Given the description of an element on the screen output the (x, y) to click on. 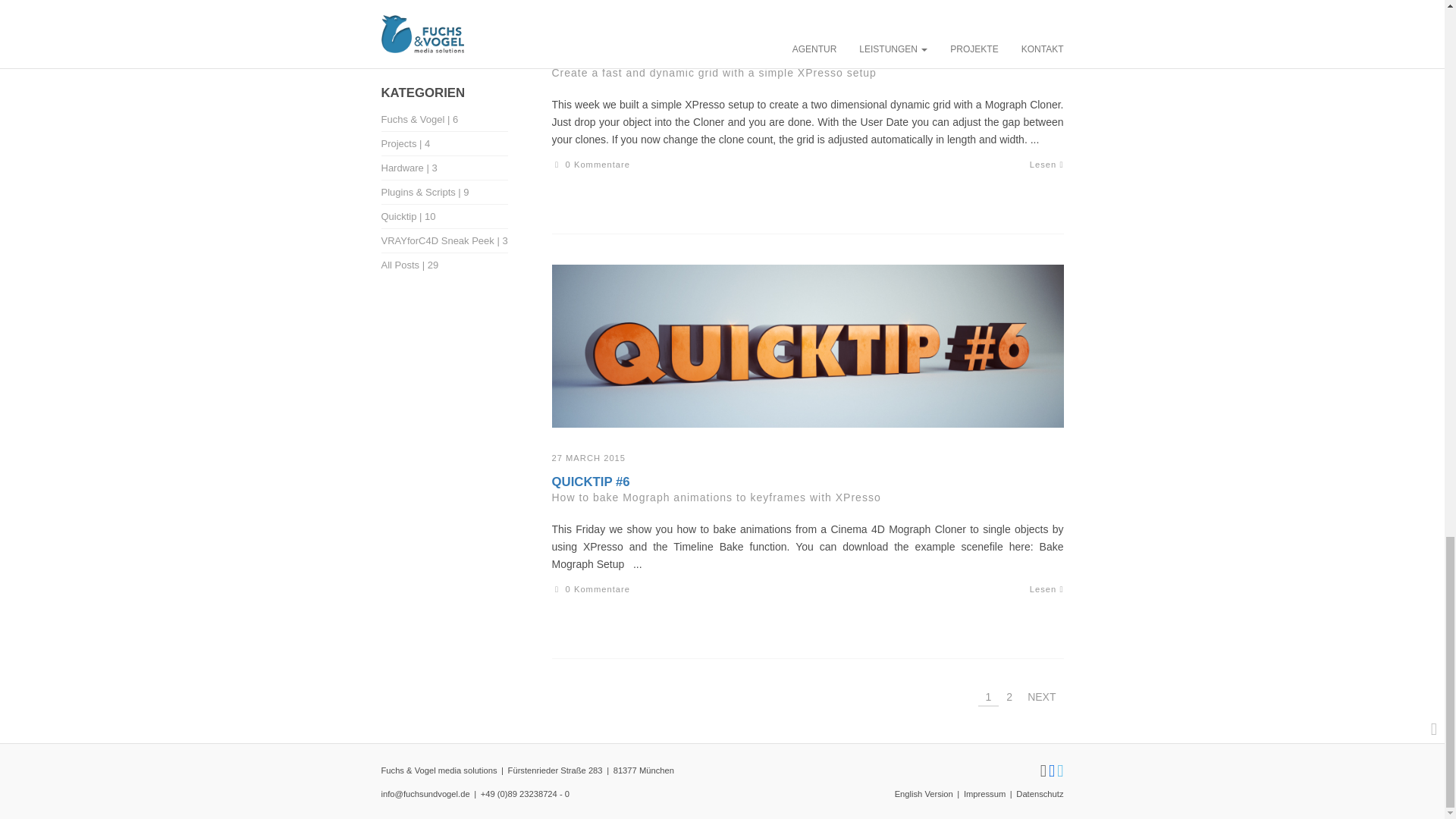
0 Kommentare (590, 588)
Lesen (1046, 163)
0 Kommentare (590, 163)
Lesen (1046, 588)
NEXT (1041, 696)
